Given the description of an element on the screen output the (x, y) to click on. 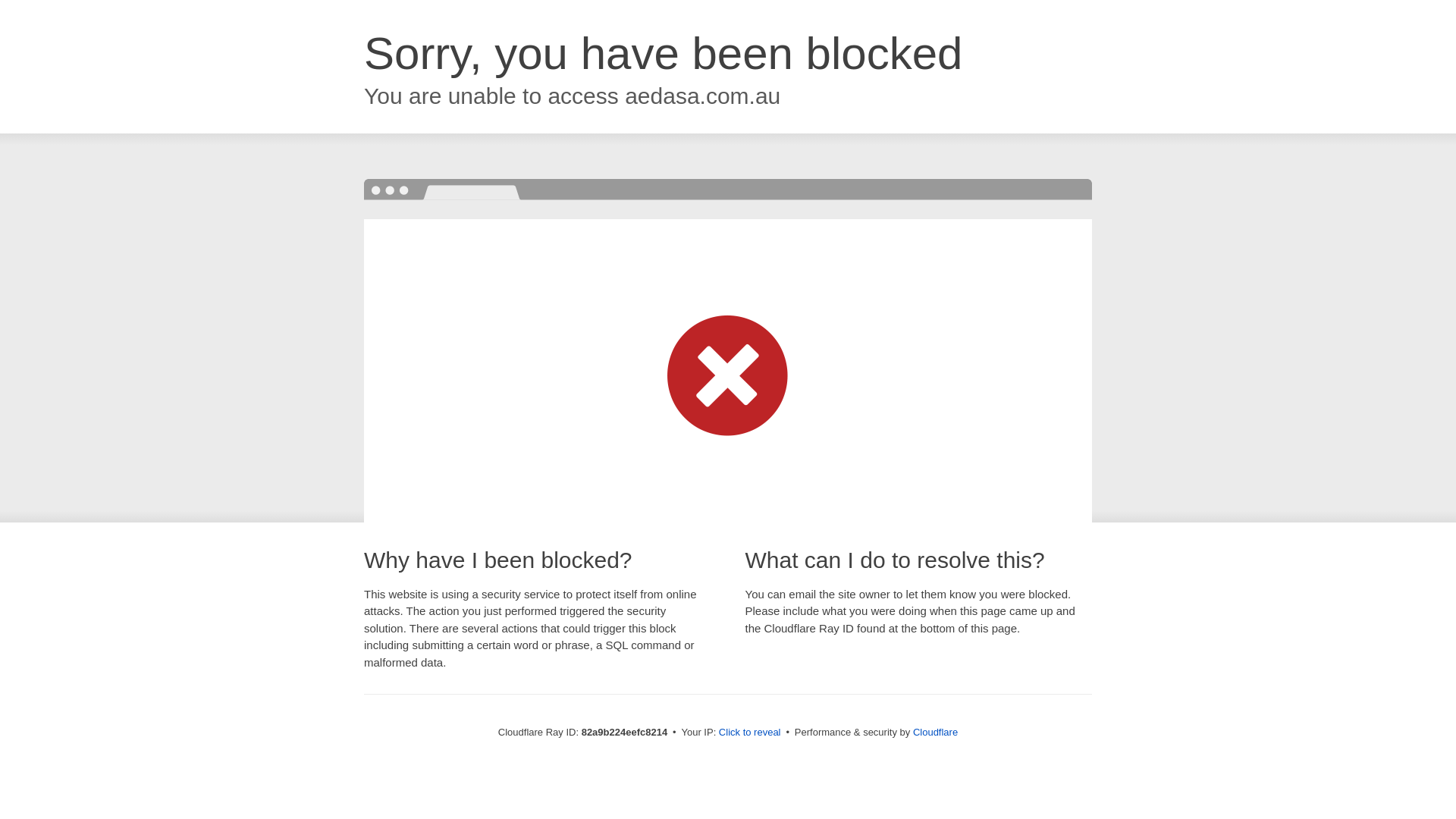
Click to reveal Element type: text (749, 732)
Cloudflare Element type: text (935, 731)
